Given the description of an element on the screen output the (x, y) to click on. 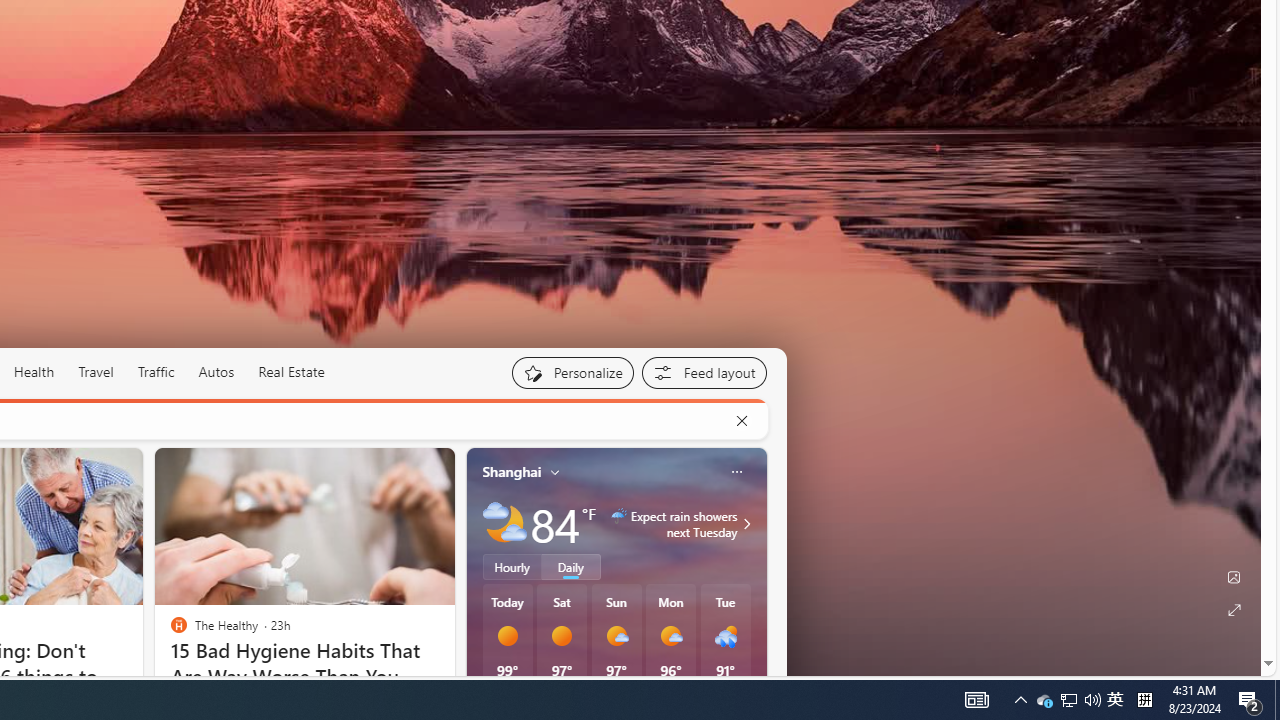
Expand background (1233, 610)
Sunny (561, 636)
Cancel (741, 421)
Class: weather-arrow-glyph (746, 523)
My location (555, 471)
Shanghai (511, 471)
Feed settings (703, 372)
Mostly sunny (670, 636)
